Given the description of an element on the screen output the (x, y) to click on. 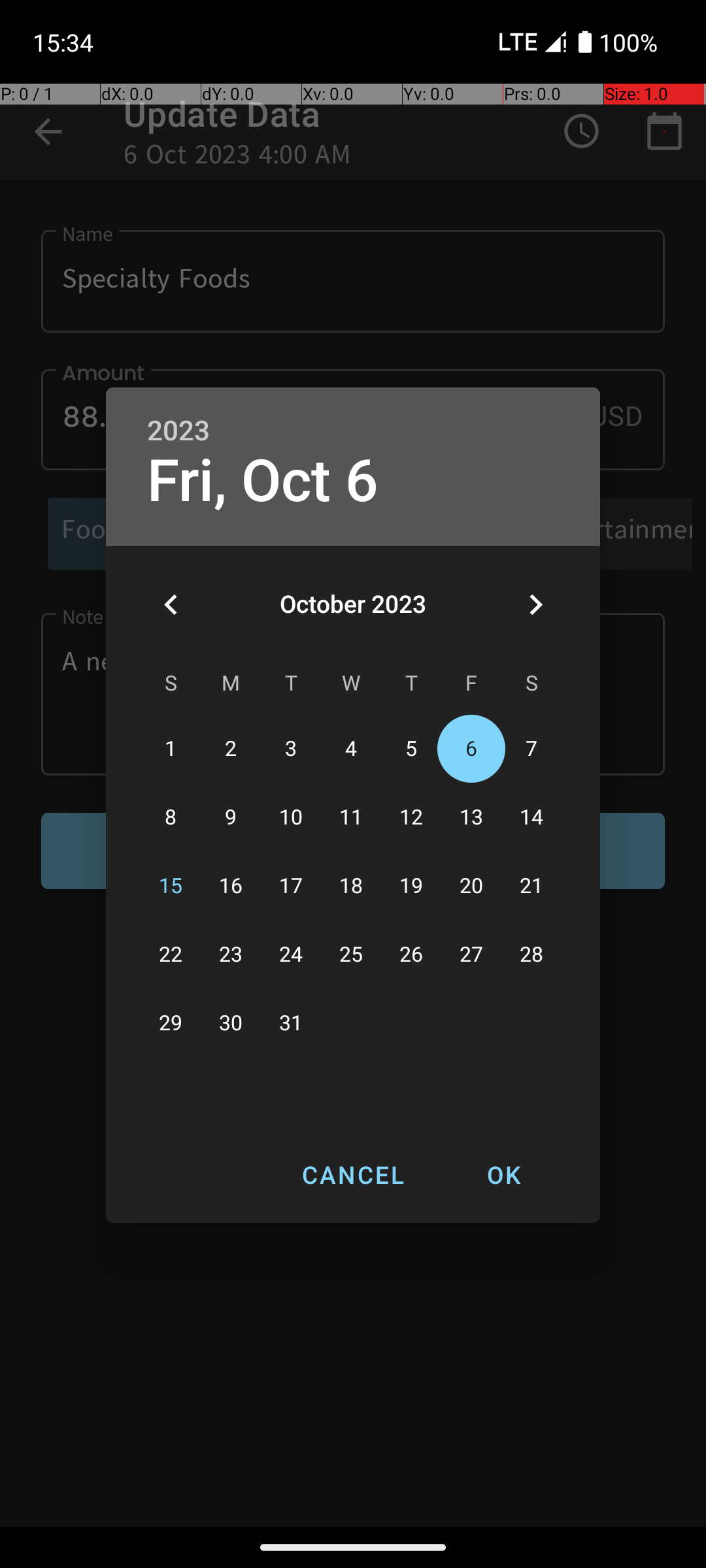
Fri, Oct 6 Element type: android.widget.TextView (262, 480)
